Given the description of an element on the screen output the (x, y) to click on. 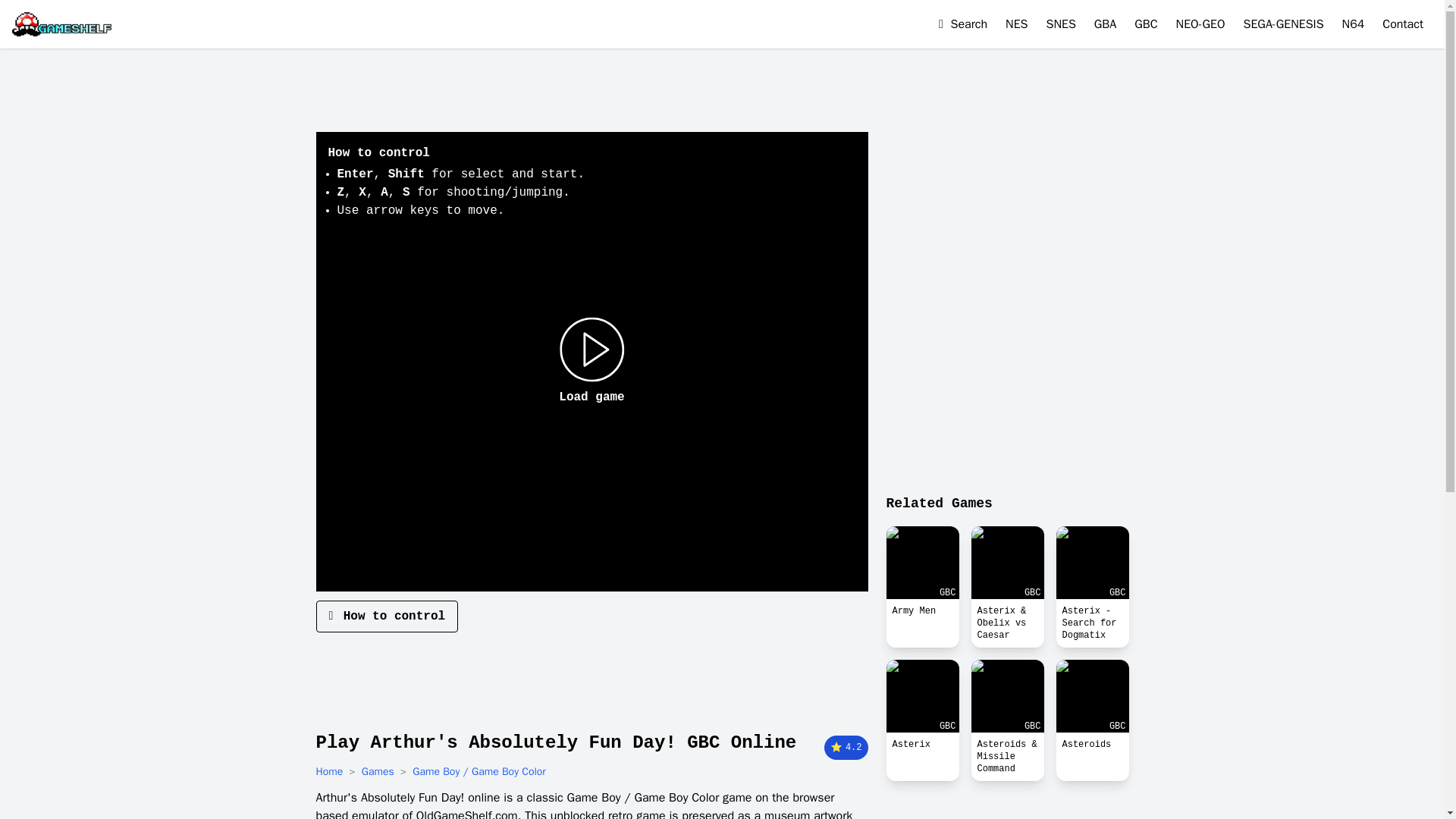
Games (377, 771)
Home (328, 771)
Game Boy Advance (1105, 23)
NES (1016, 23)
Nintendo 64 (1353, 23)
NEO-GEO (1200, 23)
Homepage (61, 24)
Army Men (921, 610)
GBC (921, 562)
NES (1016, 23)
